Given the description of an element on the screen output the (x, y) to click on. 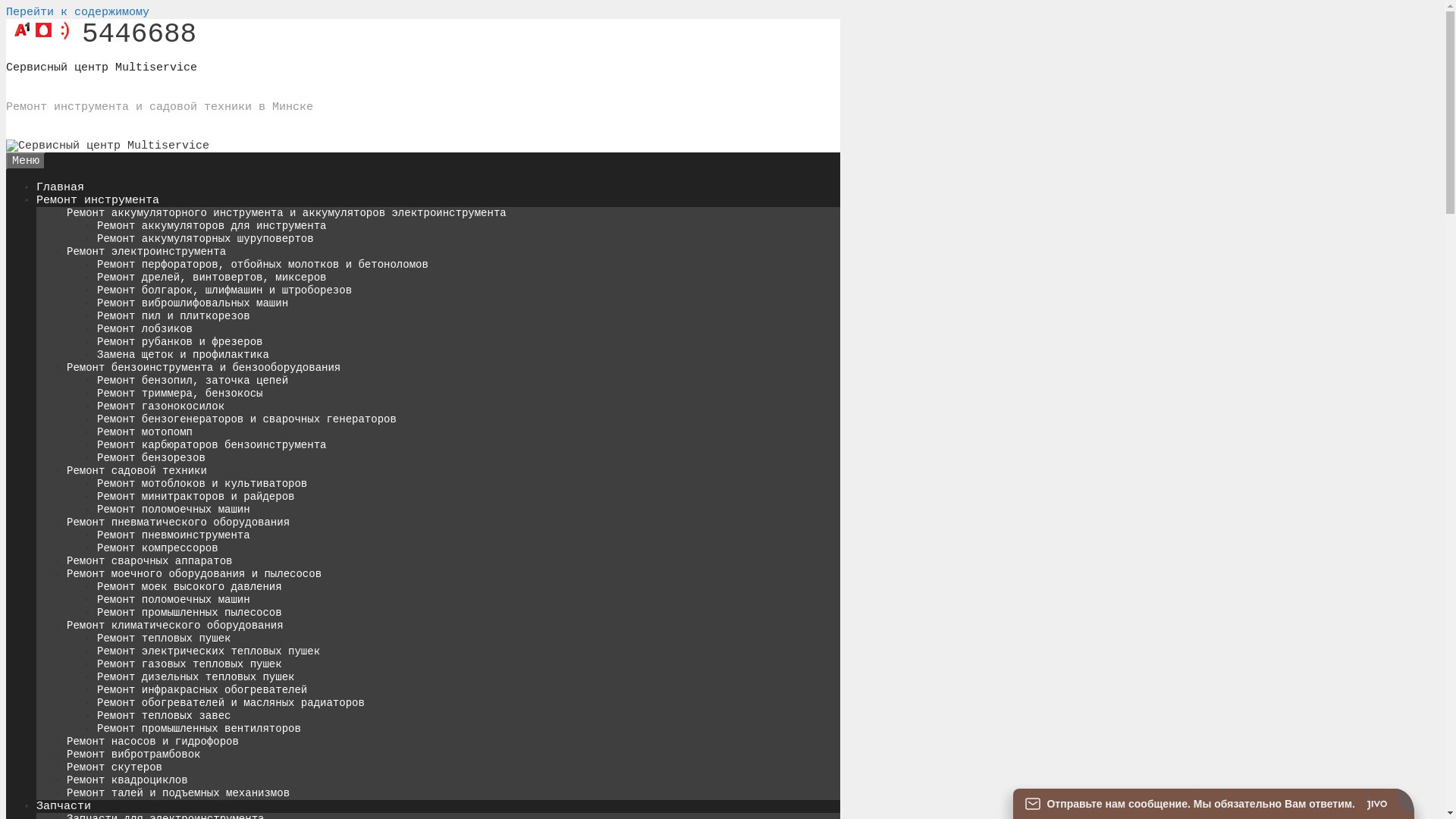
5446688 Element type: text (101, 34)
